Given the description of an element on the screen output the (x, y) to click on. 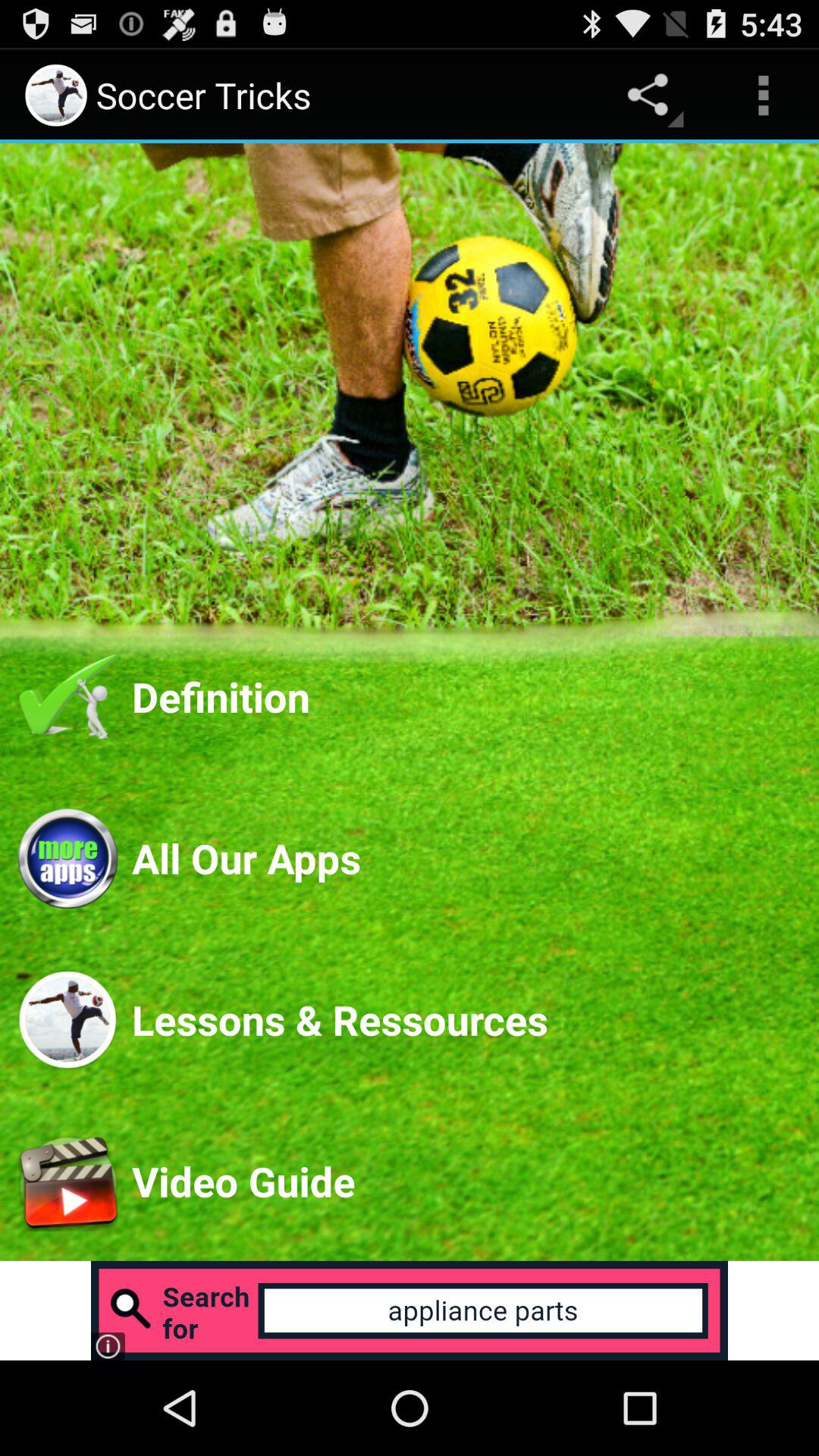
swipe to the all our apps app (465, 857)
